Given the description of an element on the screen output the (x, y) to click on. 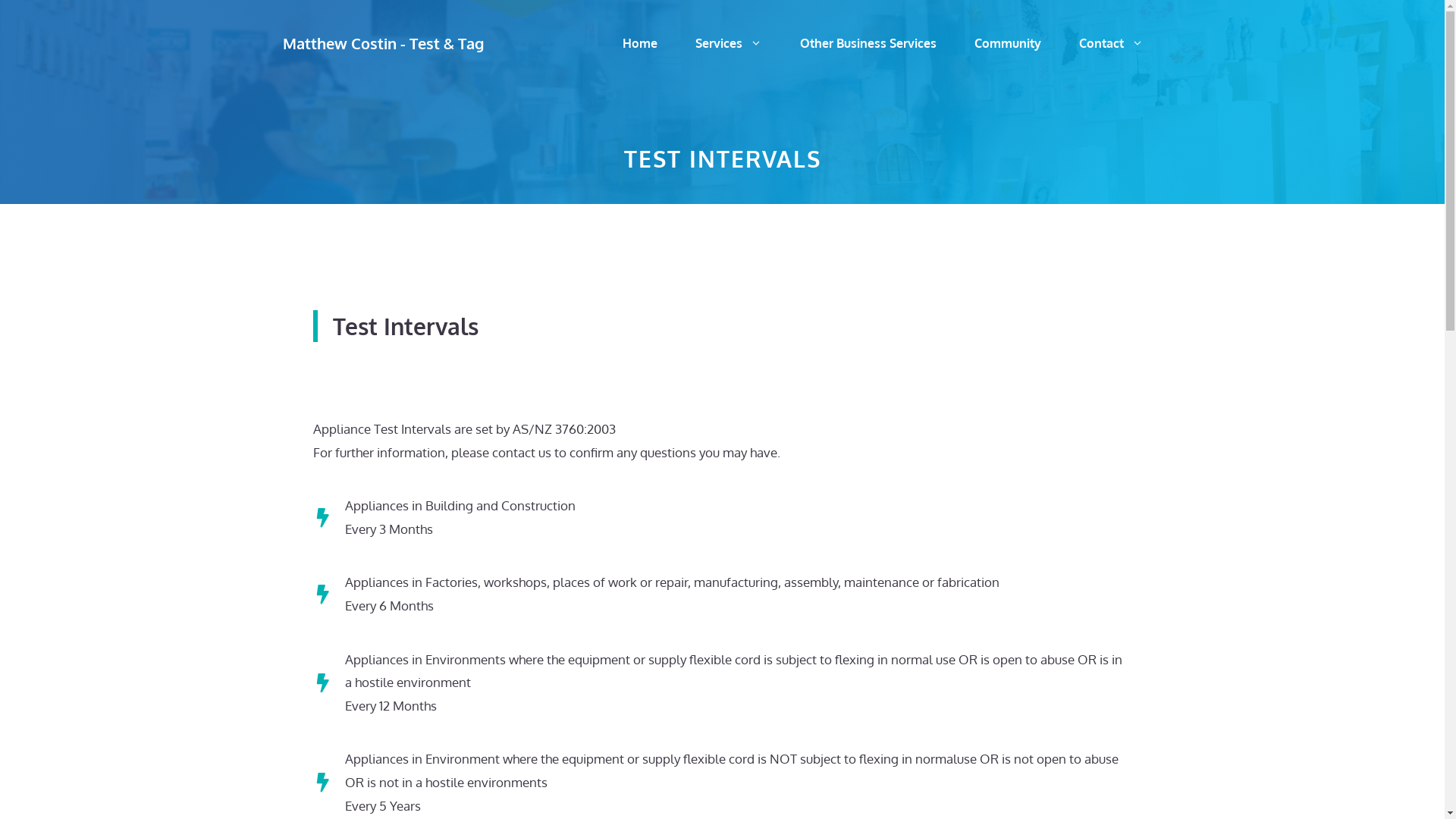
Matthew Costin - Test & Tag Element type: text (382, 43)
Services Element type: text (728, 42)
Community Element type: text (1007, 42)
Home Element type: text (639, 42)
Contact Element type: text (1111, 42)
Other Business Services Element type: text (868, 42)
